Given the description of an element on the screen output the (x, y) to click on. 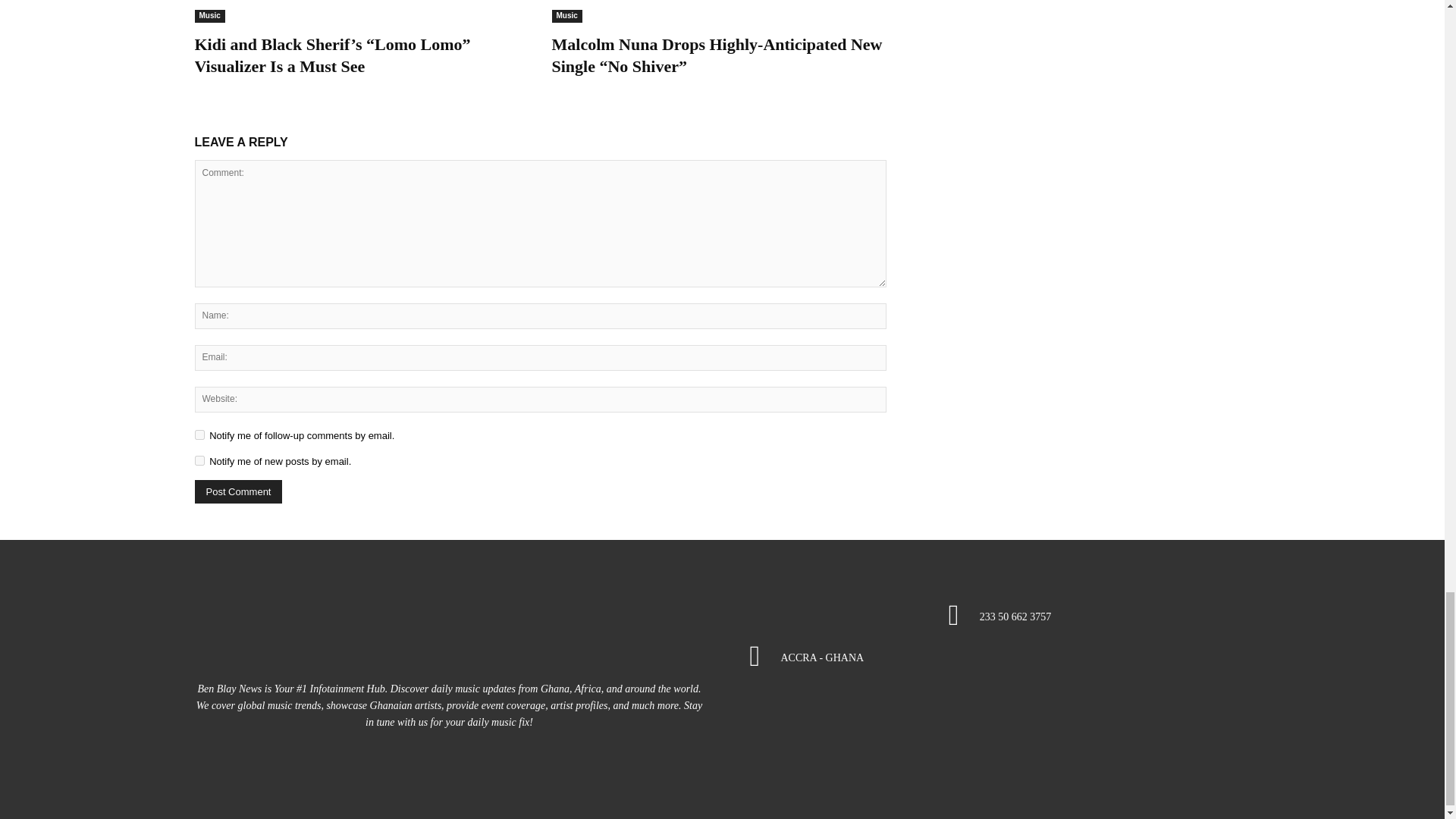
Post Comment (237, 491)
subscribe (198, 460)
subscribe (198, 434)
